Given the description of an element on the screen output the (x, y) to click on. 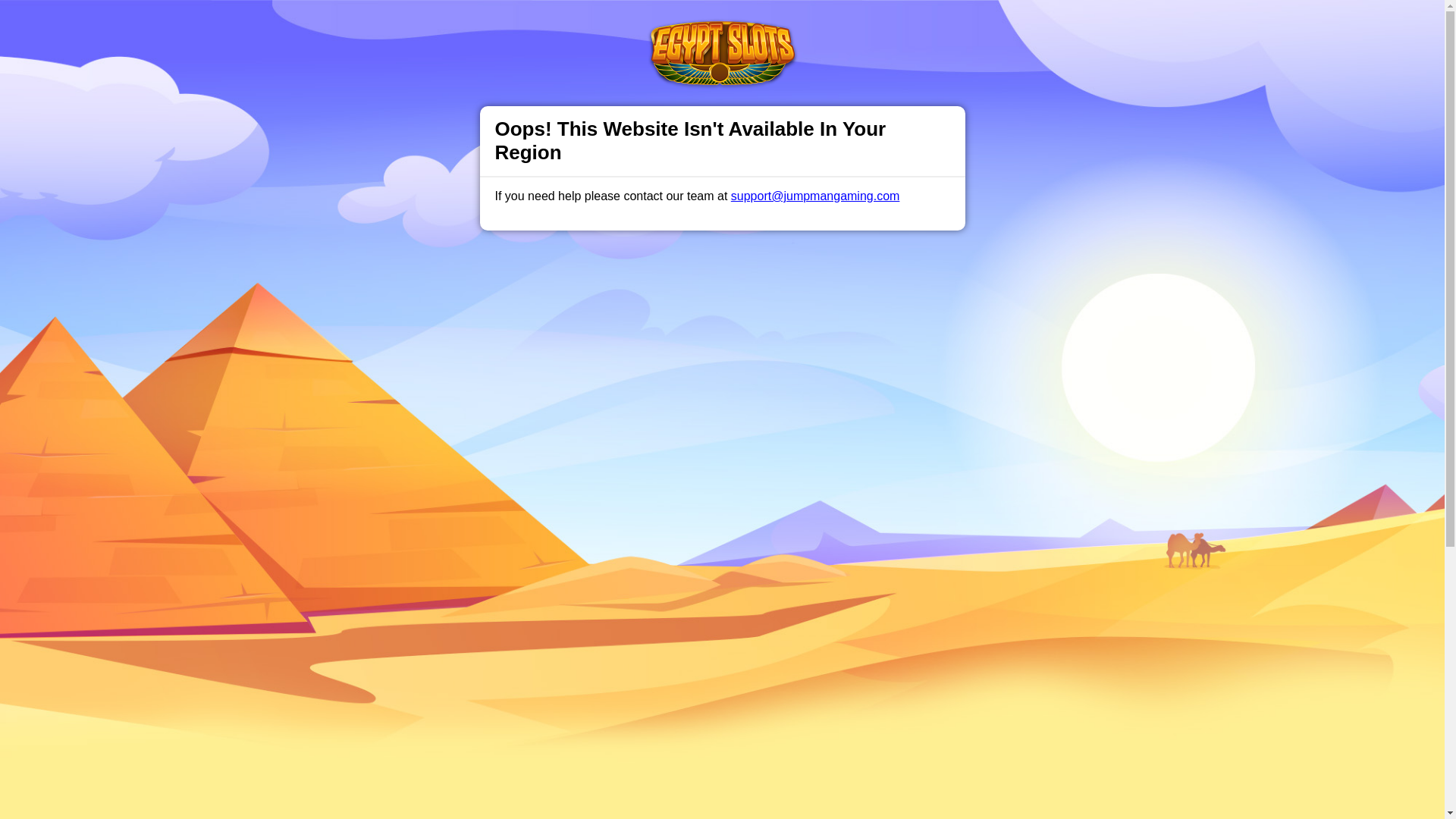
Back To All Games (722, 793)
Trophies (456, 26)
Promotions (526, 26)
Join Now (1054, 26)
All Games (600, 26)
Login (963, 26)
Back To All Games (721, 793)
